Given the description of an element on the screen output the (x, y) to click on. 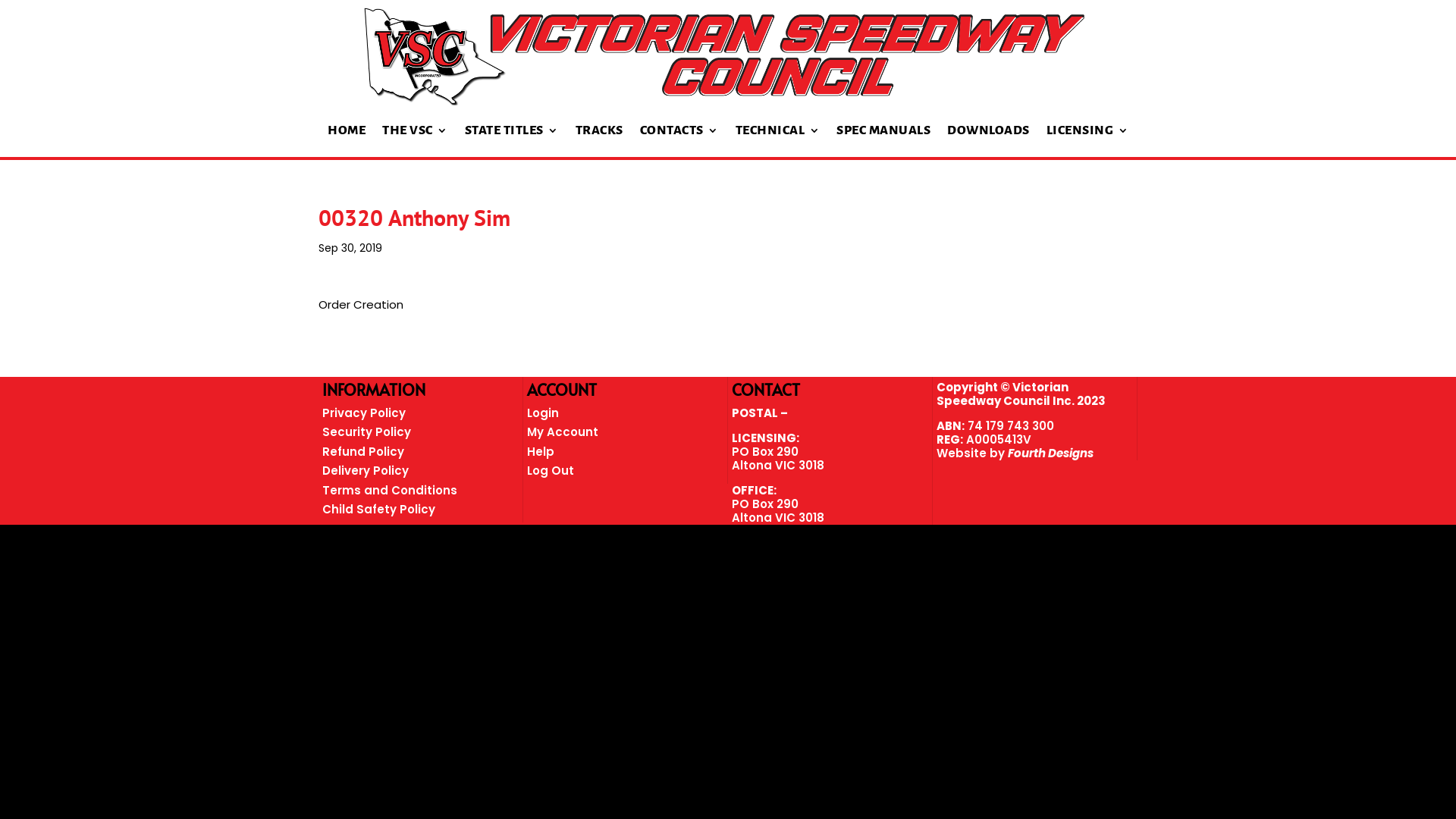
LICENSING Element type: text (1087, 141)
Help Element type: text (540, 451)
Terms and Conditions Element type: text (389, 490)
Privacy Policy Element type: text (363, 412)
Login Element type: text (542, 412)
My Account Element type: text (562, 431)
HOME Element type: text (346, 141)
Child Safety Policy Element type: text (378, 509)
THE VSC Element type: text (415, 141)
CONTACTS Element type: text (679, 141)
TRACKS Element type: text (598, 141)
STATE TITLES Element type: text (511, 141)
Security Policy Element type: text (366, 431)
Fourth Designs Element type: text (1050, 453)
TECHNICAL Element type: text (777, 141)
Delivery Policy Element type: text (365, 470)
vscHeader2023 Element type: hover (724, 56)
Log Out Element type: text (550, 470)
Refund Policy Element type: text (363, 451)
SPEC MANUALS Element type: text (883, 141)
DOWNLOADS Element type: text (988, 141)
